Given the description of an element on the screen output the (x, y) to click on. 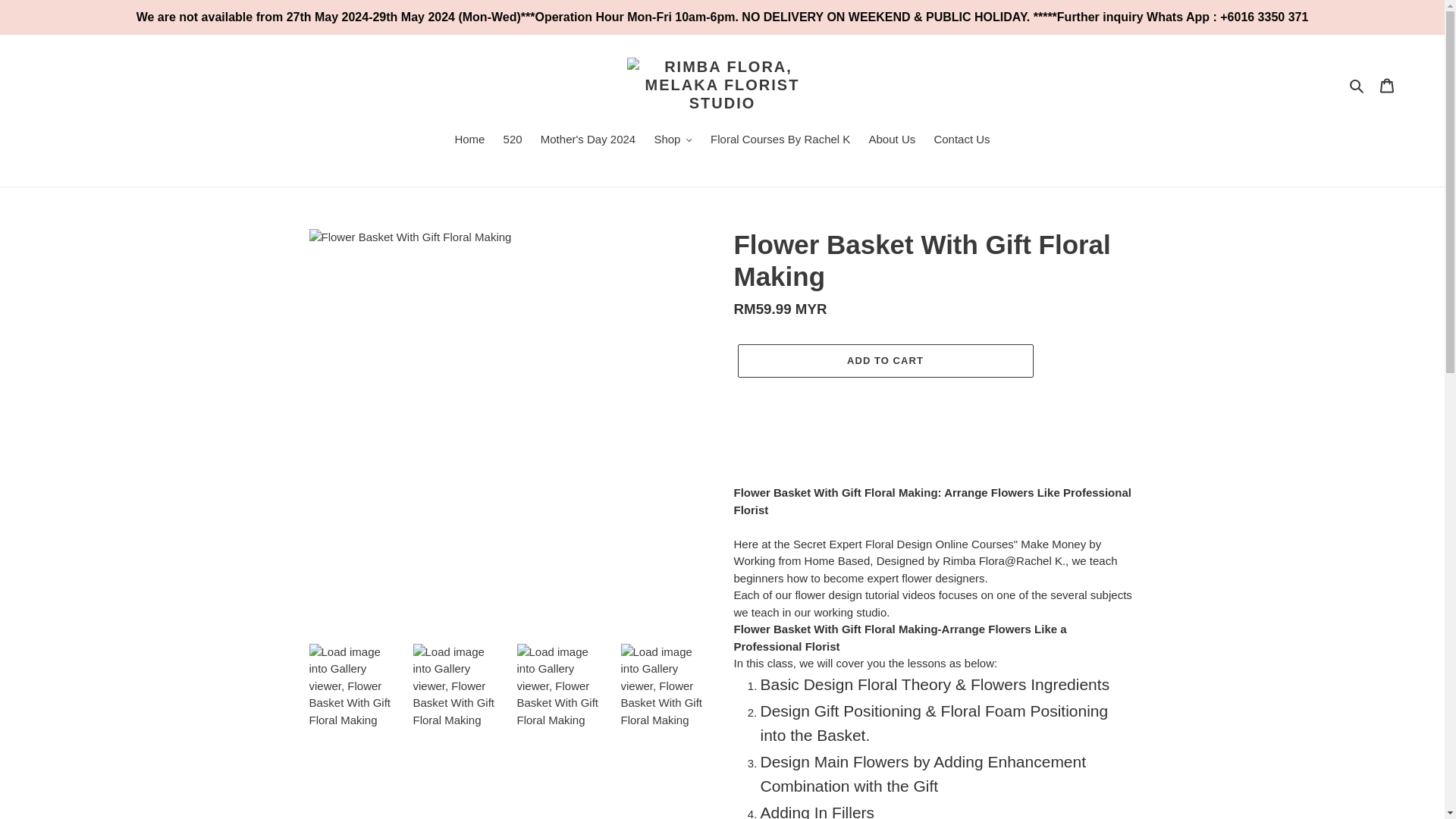
Shop (673, 140)
520 (512, 140)
Cart (1387, 84)
Search (1357, 85)
Mother's Day 2024 (587, 140)
Home (469, 140)
